Given the description of an element on the screen output the (x, y) to click on. 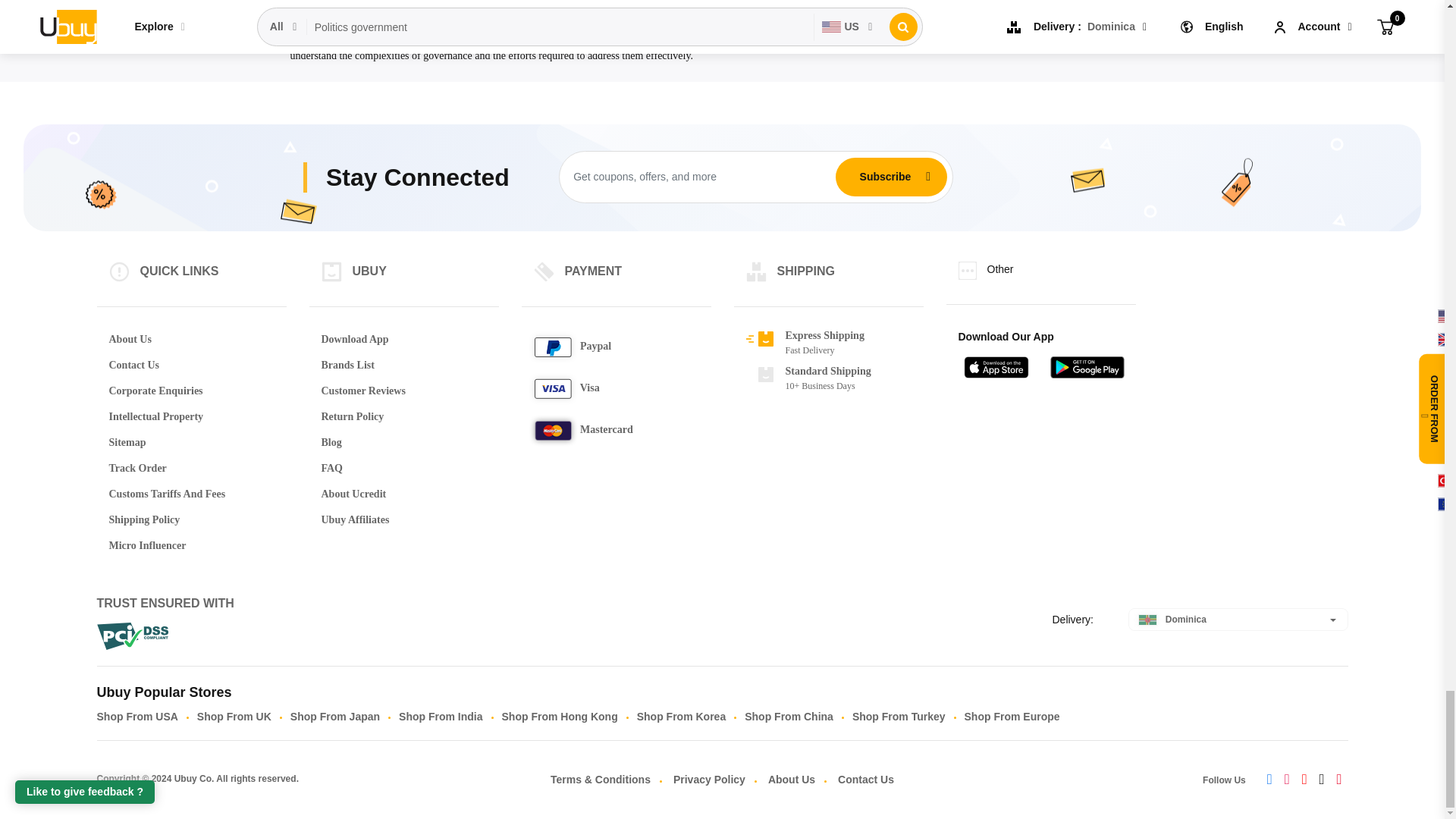
Subscribe (885, 176)
